Given the description of an element on the screen output the (x, y) to click on. 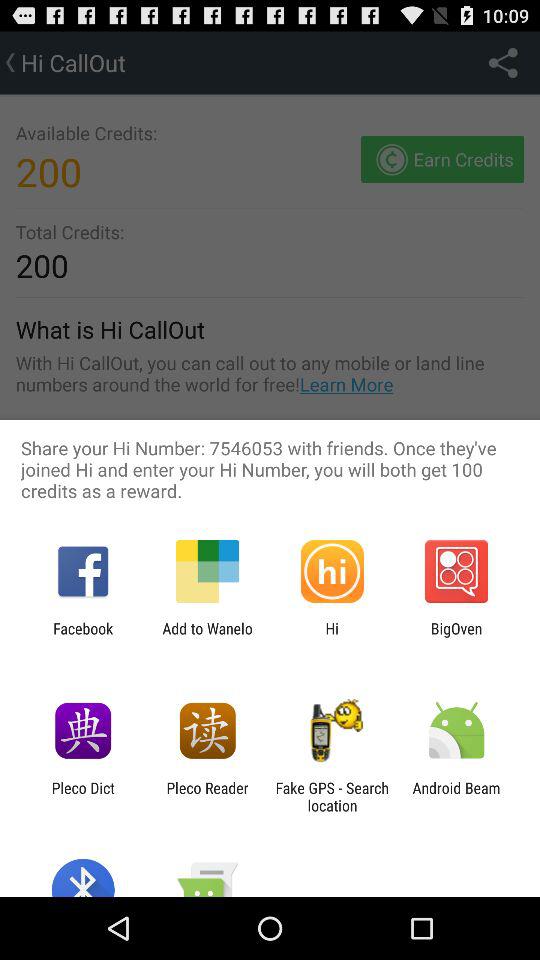
launch icon next to hi (207, 637)
